Given the description of an element on the screen output the (x, y) to click on. 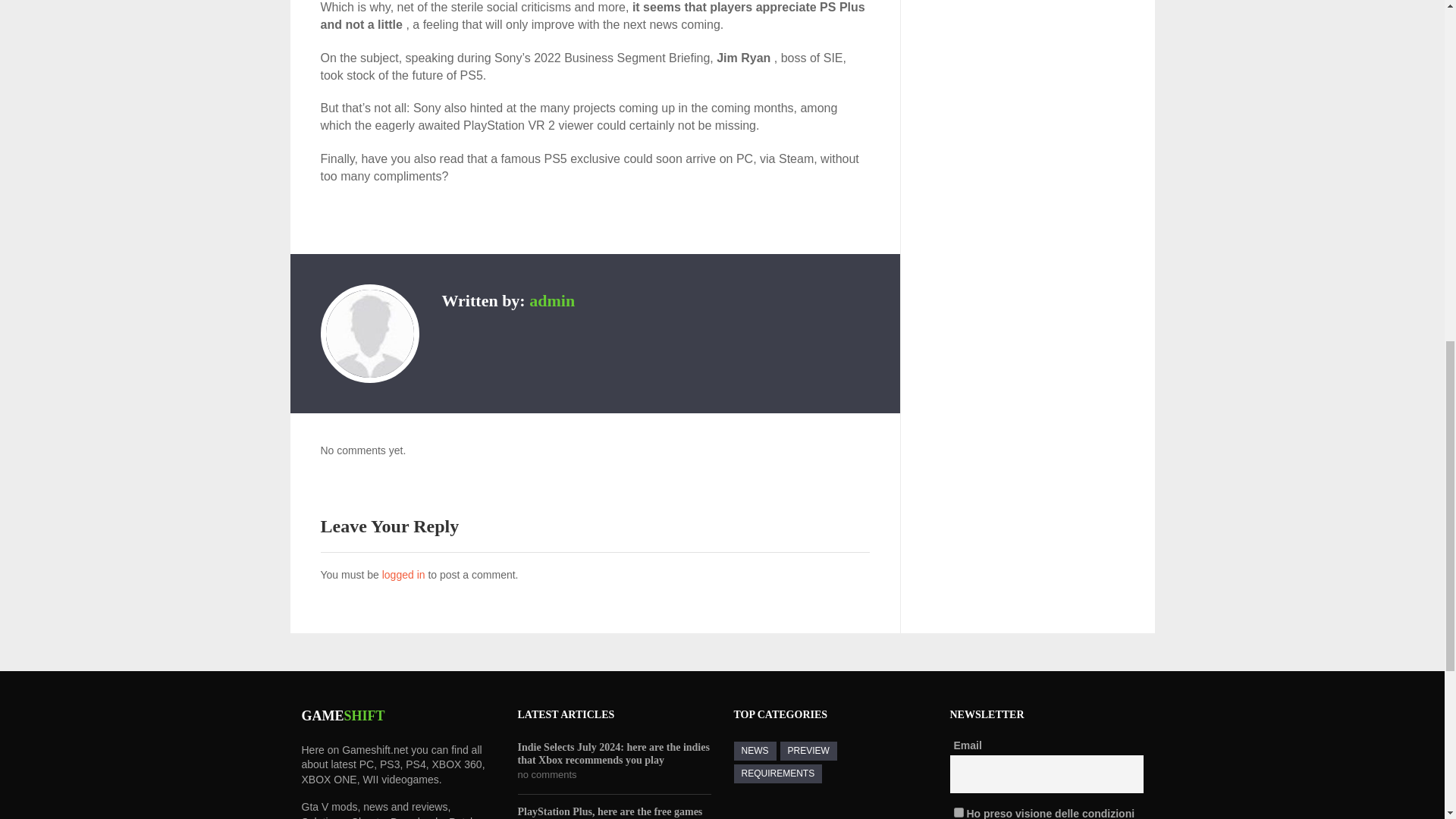
logged in (403, 574)
PREVIEW (806, 751)
PlayStation Plus, here are the free games for August 2024 (613, 812)
REQUIREMENTS (777, 773)
NEWS (754, 751)
on (958, 811)
no comments (546, 774)
